Given the description of an element on the screen output the (x, y) to click on. 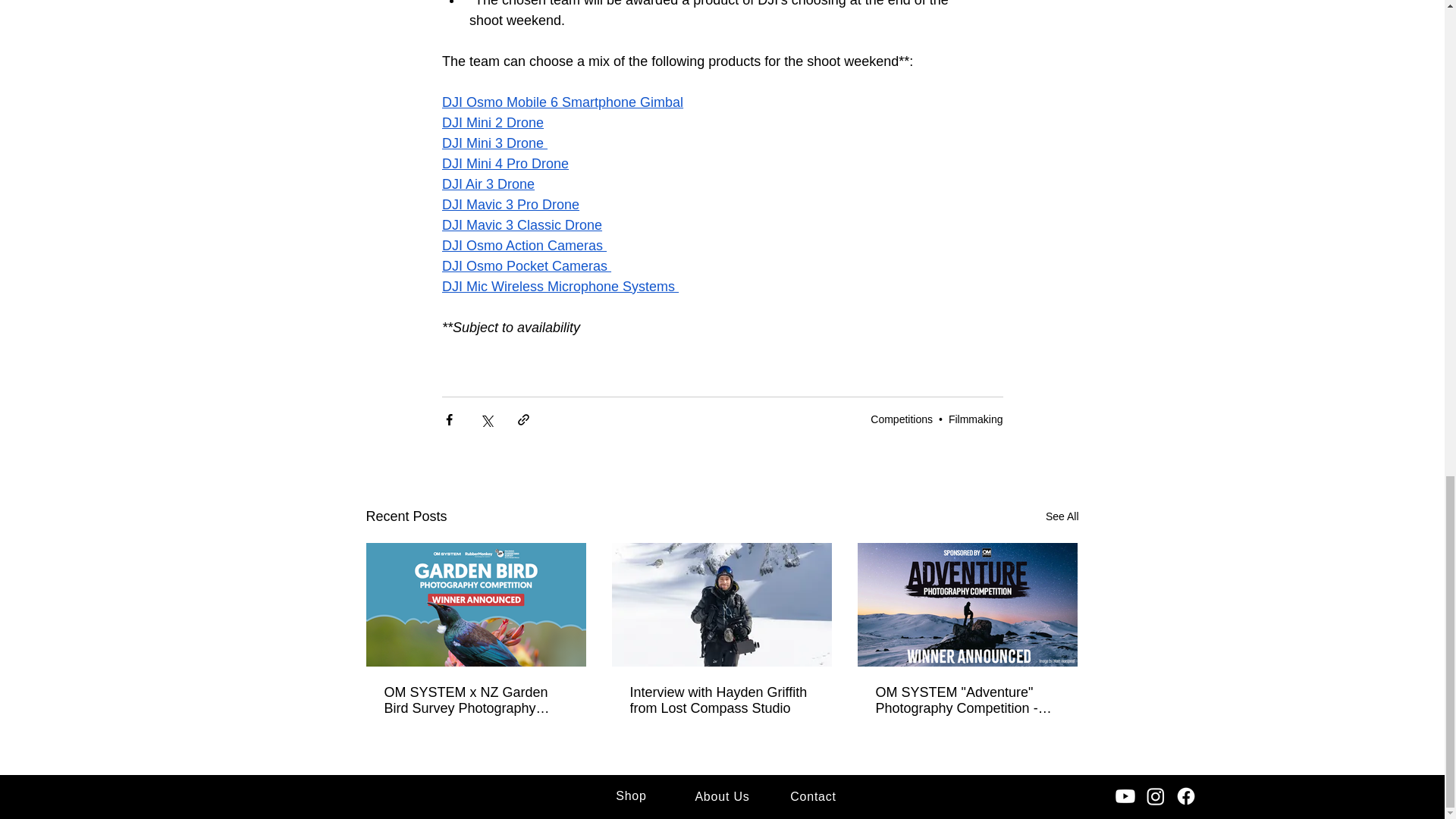
DJI Osmo Action Cameras  (523, 245)
DJI Mini 3 Drone  (494, 142)
DJI Air 3 Drone (487, 183)
DJI Mini 4 Pro Drone (504, 163)
DJI Osmo Pocket Cameras  (525, 265)
DJI Mini 2 Drone (492, 122)
DJI Osmo Mobile 6 Smartphone Gimbal (561, 102)
DJI Mavic 3 Classic Drone (521, 224)
DJI Mic Wireless Microphone Systems  (559, 286)
DJI Mavic 3 Pro Drone (509, 204)
